Given the description of an element on the screen output the (x, y) to click on. 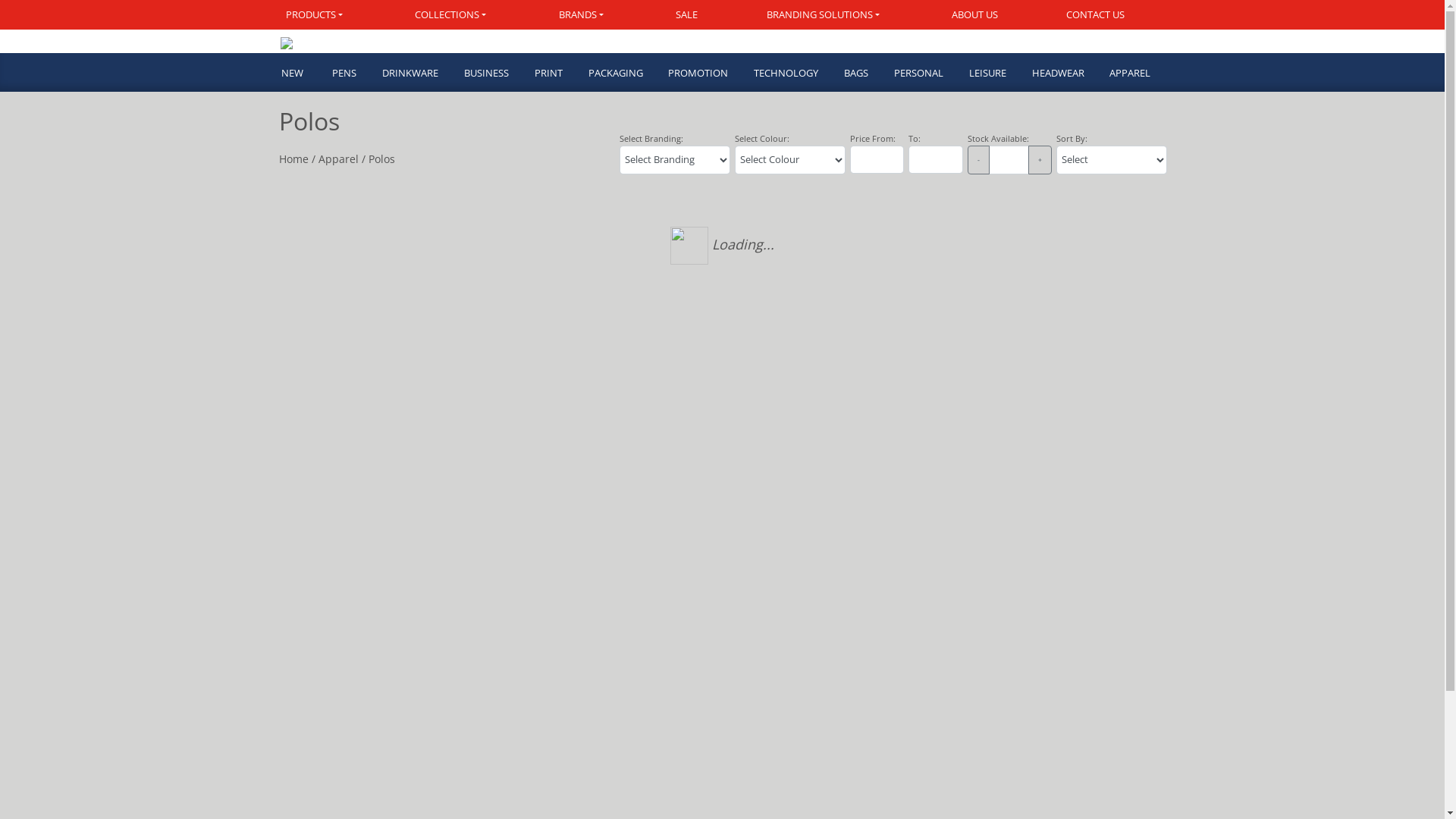
COLLECTIONS Element type: text (452, 14)
HEADWEAR Element type: text (1057, 73)
PRINT Element type: text (547, 73)
PROMOTION Element type: text (697, 73)
BRANDS Element type: text (582, 14)
BUSINESS Element type: text (485, 73)
PRODUCTS Element type: text (330, 14)
LEISURE Element type: text (986, 73)
Polos Element type: text (381, 158)
CONTACT US Element type: text (1095, 14)
DRINKWARE Element type: text (409, 73)
Apparel Element type: text (338, 158)
BRANDING SOLUTIONS Element type: text (824, 14)
APPAREL Element type: text (1129, 73)
Home Element type: text (293, 158)
TECHNOLOGY Element type: text (785, 73)
BAGS Element type: text (855, 73)
PERSONAL Element type: text (917, 73)
NEW Element type: text (299, 73)
ABOUT US Element type: text (975, 14)
+ Element type: text (1039, 159)
PACKAGING Element type: text (614, 73)
PENS Element type: text (344, 73)
- Element type: text (978, 159)
SALE Element type: text (687, 14)
